Given the description of an element on the screen output the (x, y) to click on. 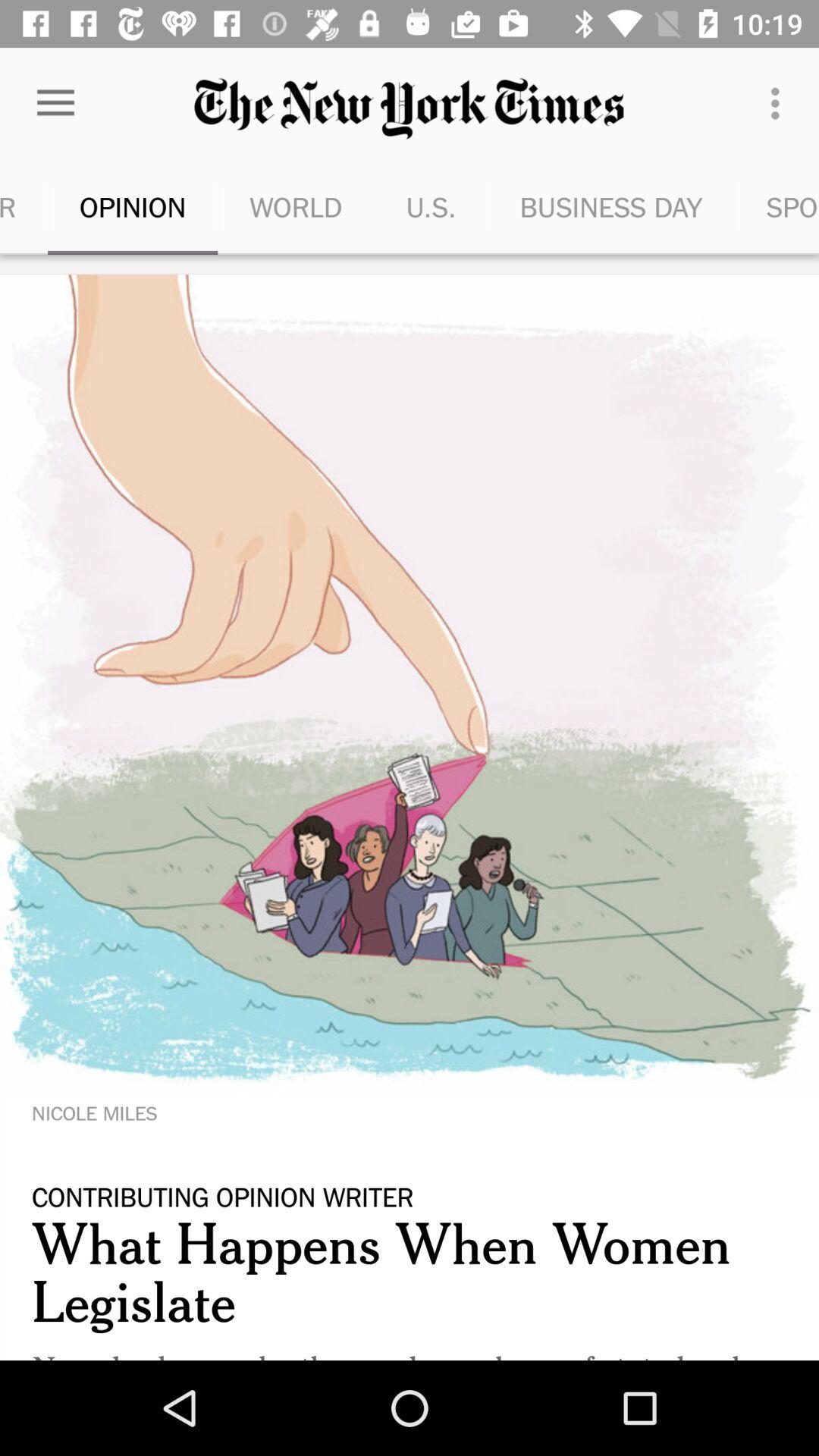
select the most popular icon (23, 206)
